Given the description of an element on the screen output the (x, y) to click on. 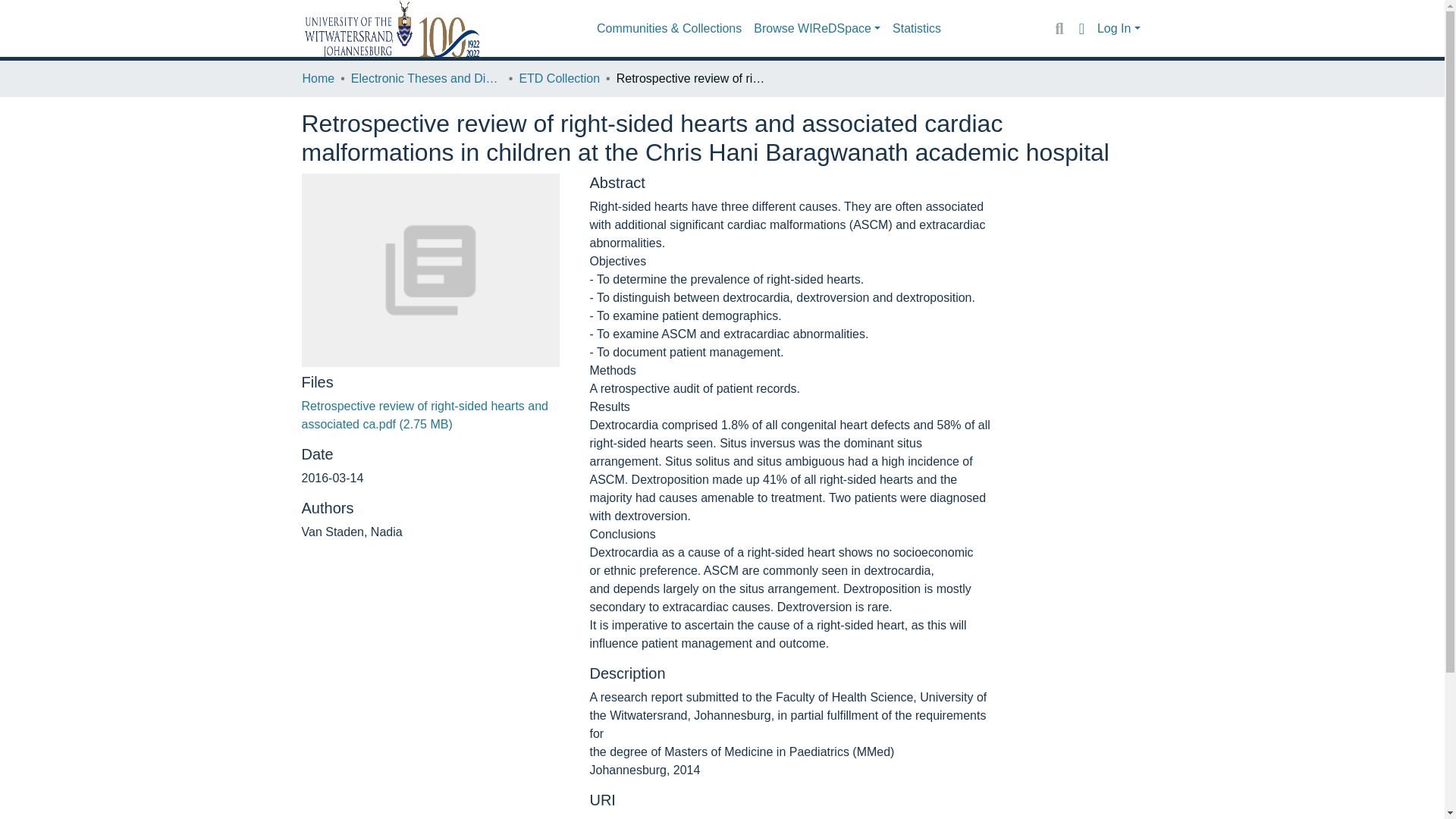
Home (317, 78)
Log In (1118, 28)
Search (1058, 28)
Statistics (916, 28)
Language switch (1081, 28)
Statistics (916, 28)
Browse WIReDSpace (817, 28)
ETD Collection (558, 78)
